Given the description of an element on the screen output the (x, y) to click on. 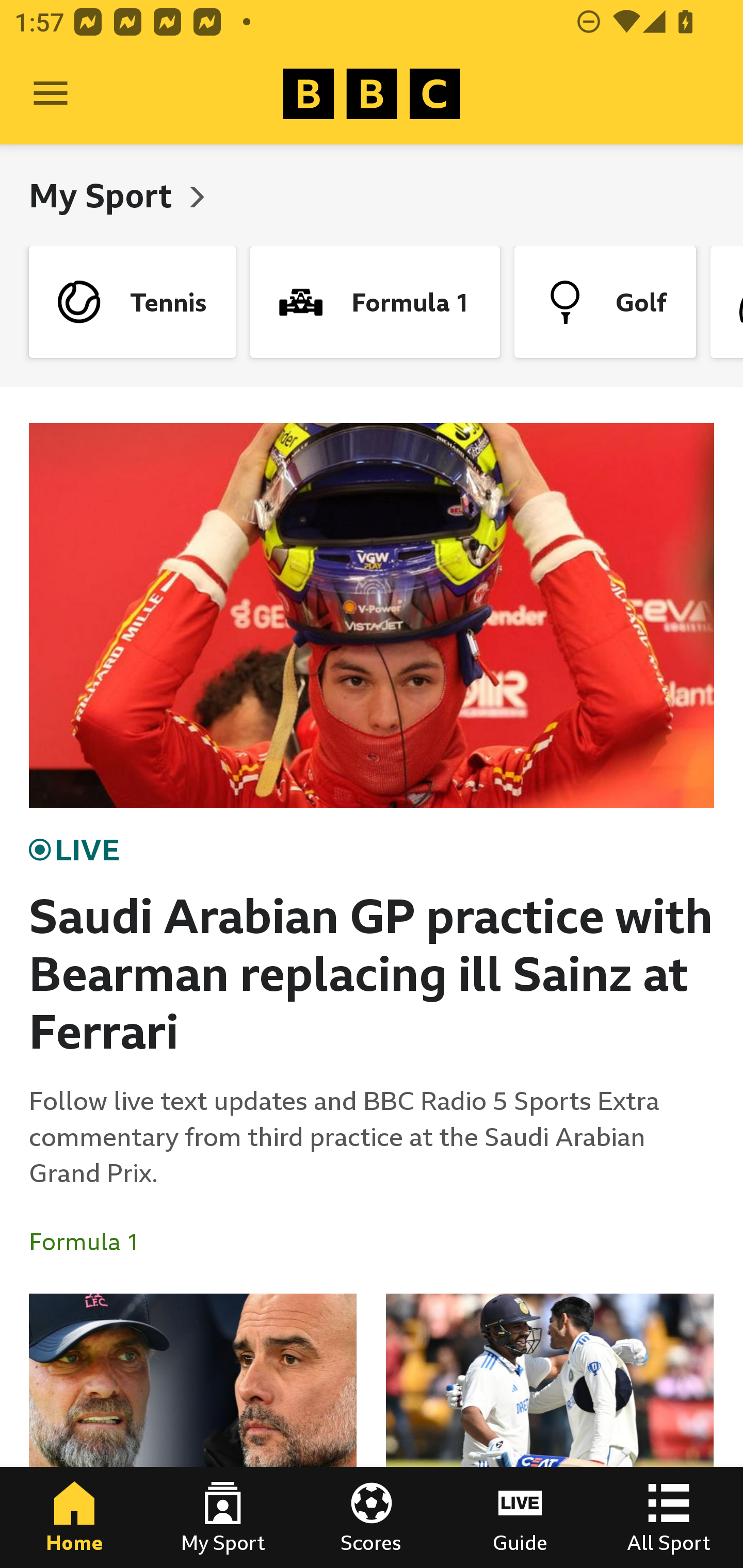
Open Menu (50, 93)
My Sport (104, 195)
Formula 1 In the section Formula 1 (91, 1241)
India build big lead despite Stokes' return wicket (549, 1430)
My Sport (222, 1517)
Scores (371, 1517)
Guide (519, 1517)
All Sport (668, 1517)
